Given the description of an element on the screen output the (x, y) to click on. 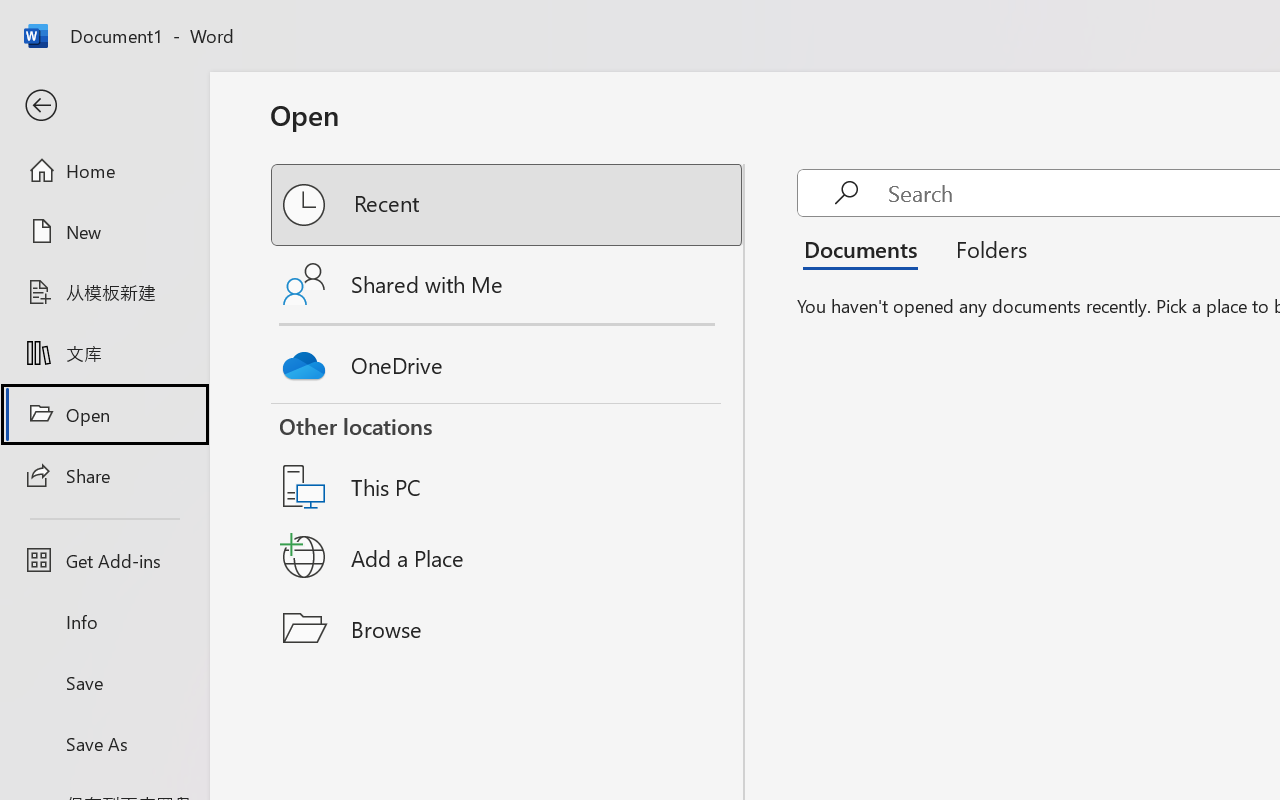
Save As (104, 743)
Get Add-ins (104, 560)
New (104, 231)
